Given the description of an element on the screen output the (x, y) to click on. 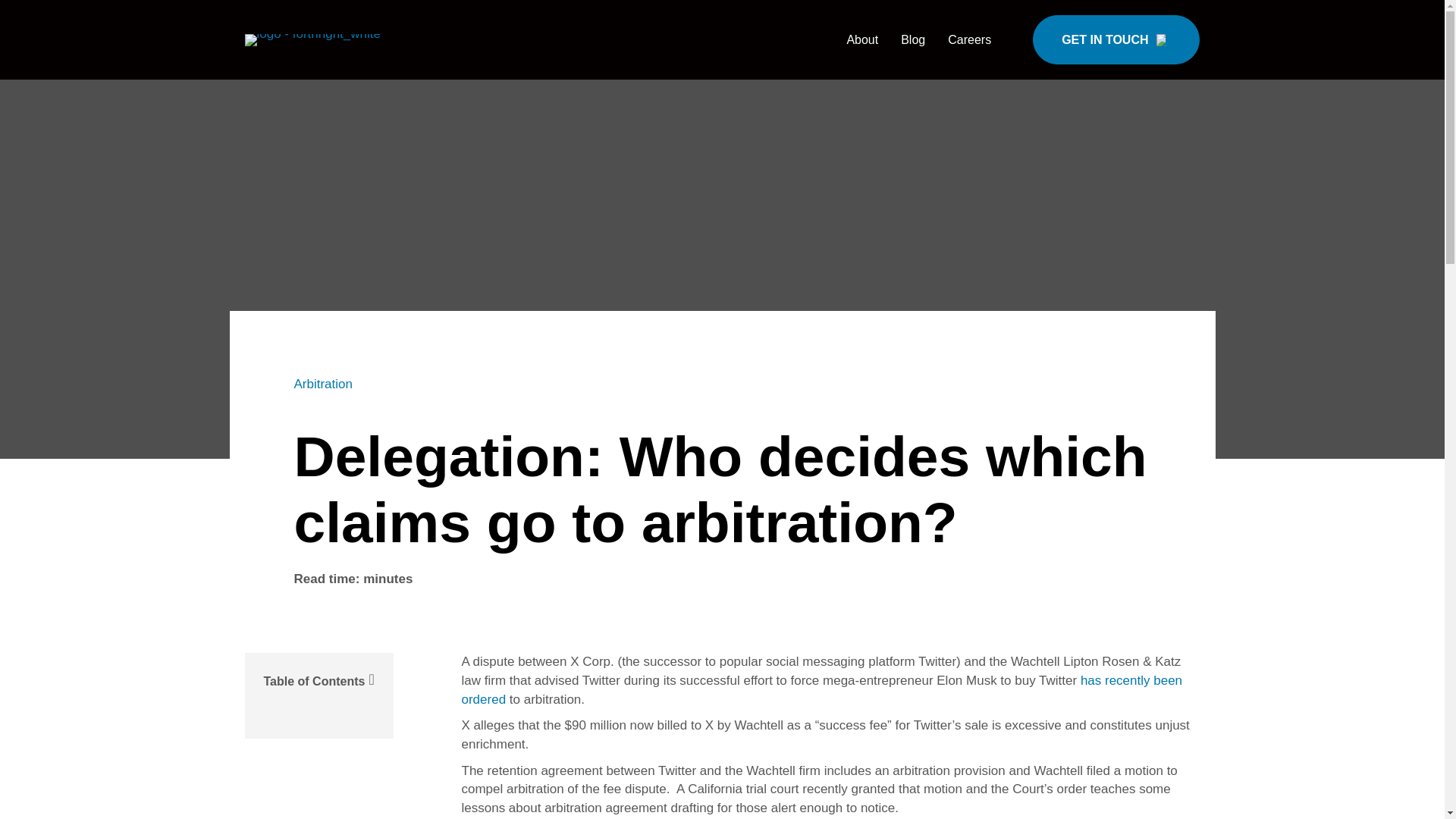
GET IN TOUCH (1115, 39)
Careers (969, 39)
Arbitration (323, 383)
About (861, 39)
has recently been ordered (821, 689)
Click Here (1115, 39)
Blog (913, 39)
